Given the description of an element on the screen output the (x, y) to click on. 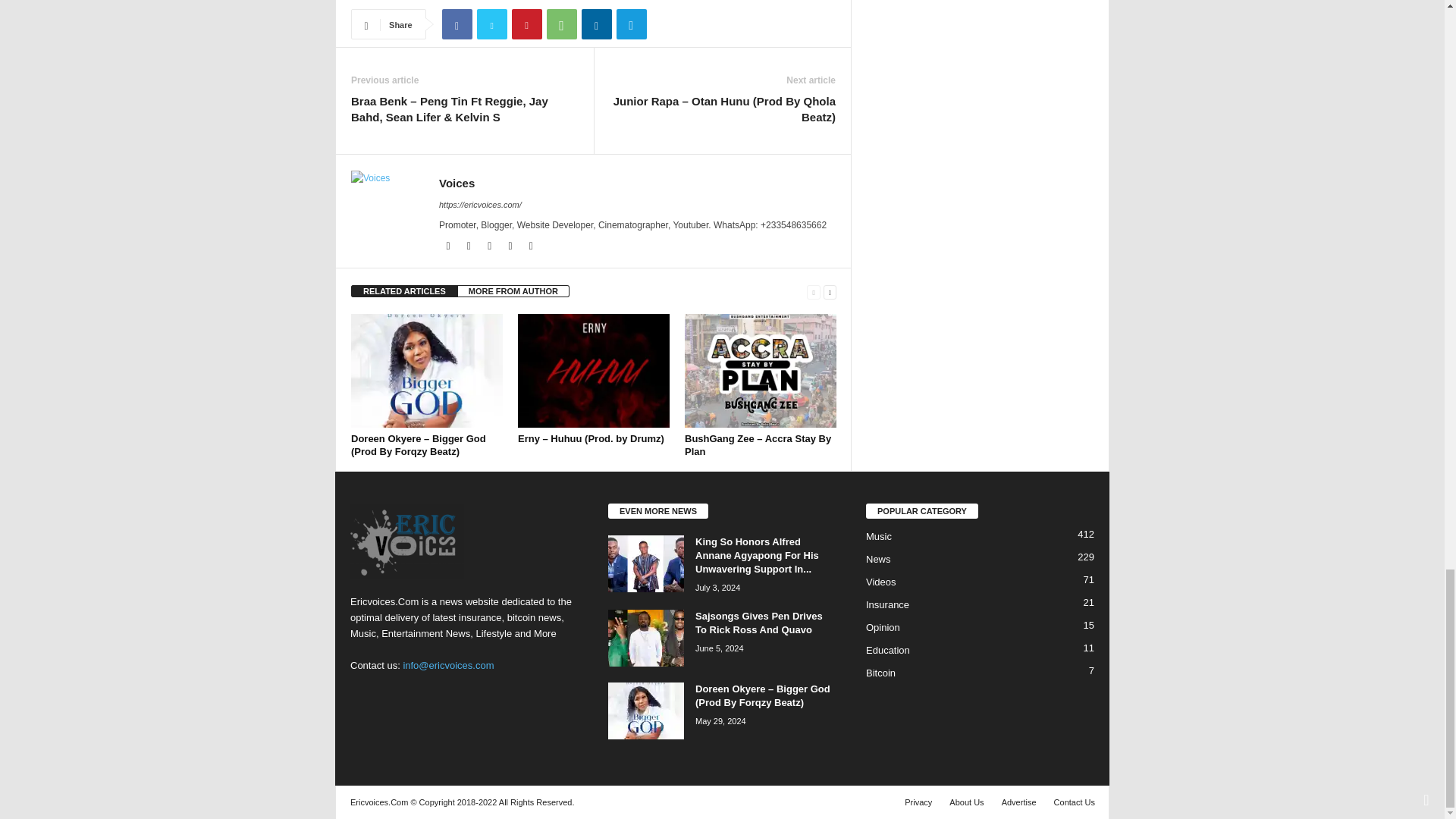
Telegram (630, 24)
Pinterest (526, 24)
bottomFacebookLike (390, 1)
Twitter (491, 24)
WhatsApp (561, 24)
Linkedin (595, 24)
Facebook (456, 24)
